Given the description of an element on the screen output the (x, y) to click on. 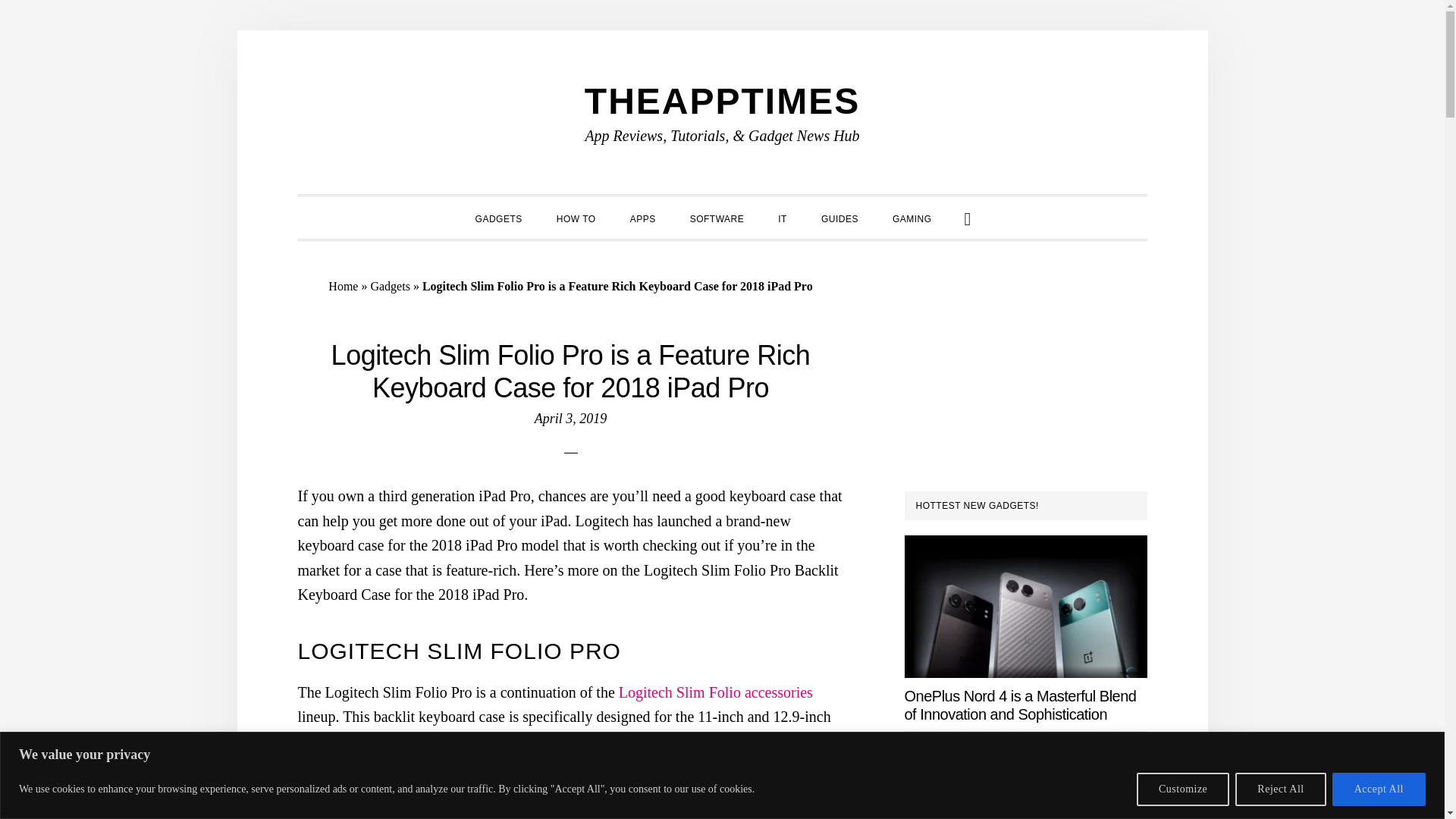
Home (343, 285)
APPS (642, 216)
GUIDES (839, 216)
THEAPPTIMES (722, 101)
SOFTWARE (717, 216)
Gadgets (389, 285)
GADGETS (498, 216)
Customize (1182, 788)
Logitech Slim Folio accessories (715, 692)
HOW TO (576, 216)
IT (782, 216)
Accept All (1378, 788)
Reject All (1279, 788)
GAMING (912, 216)
